Given the description of an element on the screen output the (x, y) to click on. 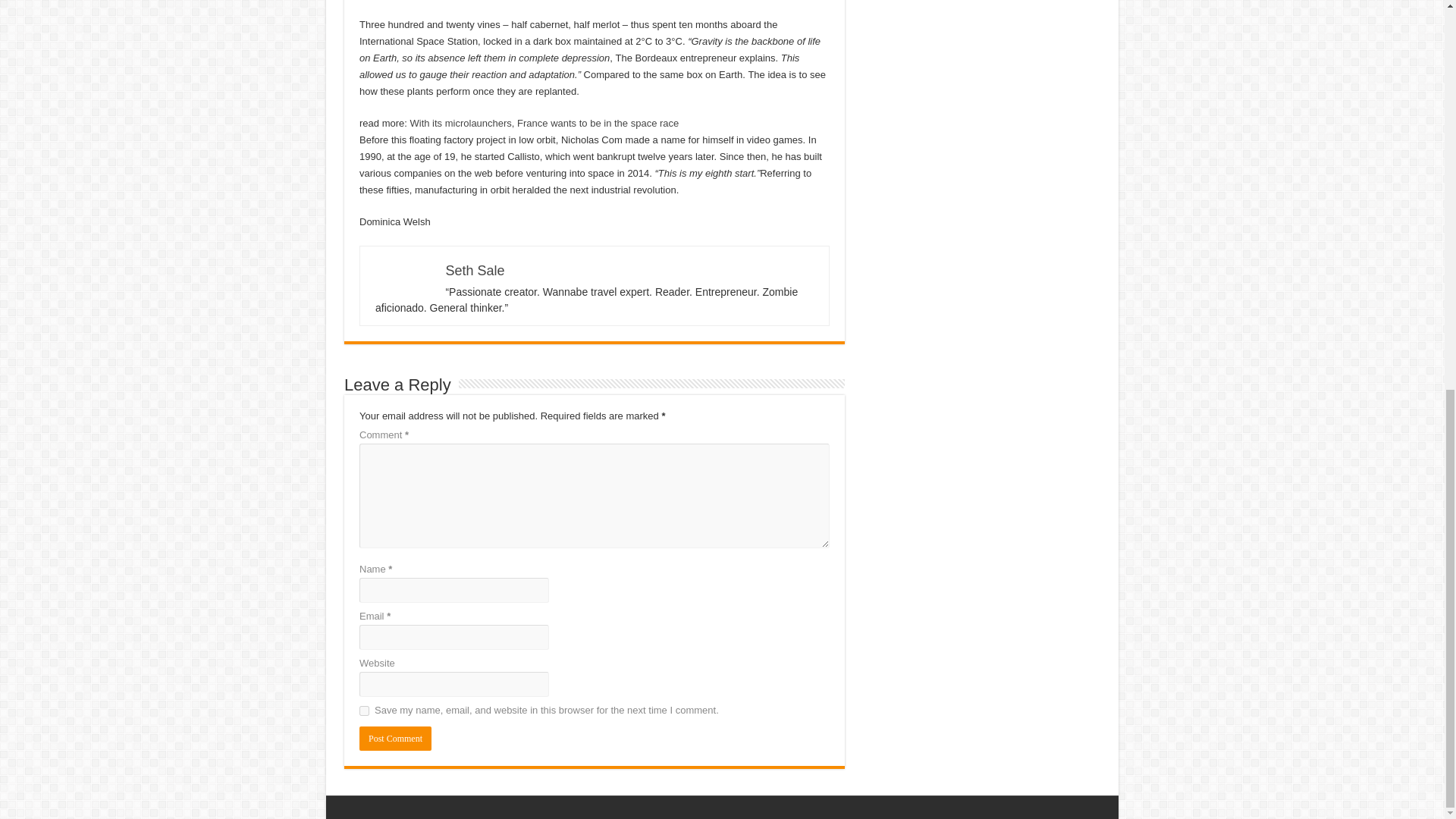
yes (364, 710)
Post Comment (394, 738)
Seth Sale (474, 270)
Post Comment (394, 738)
